Given the description of an element on the screen output the (x, y) to click on. 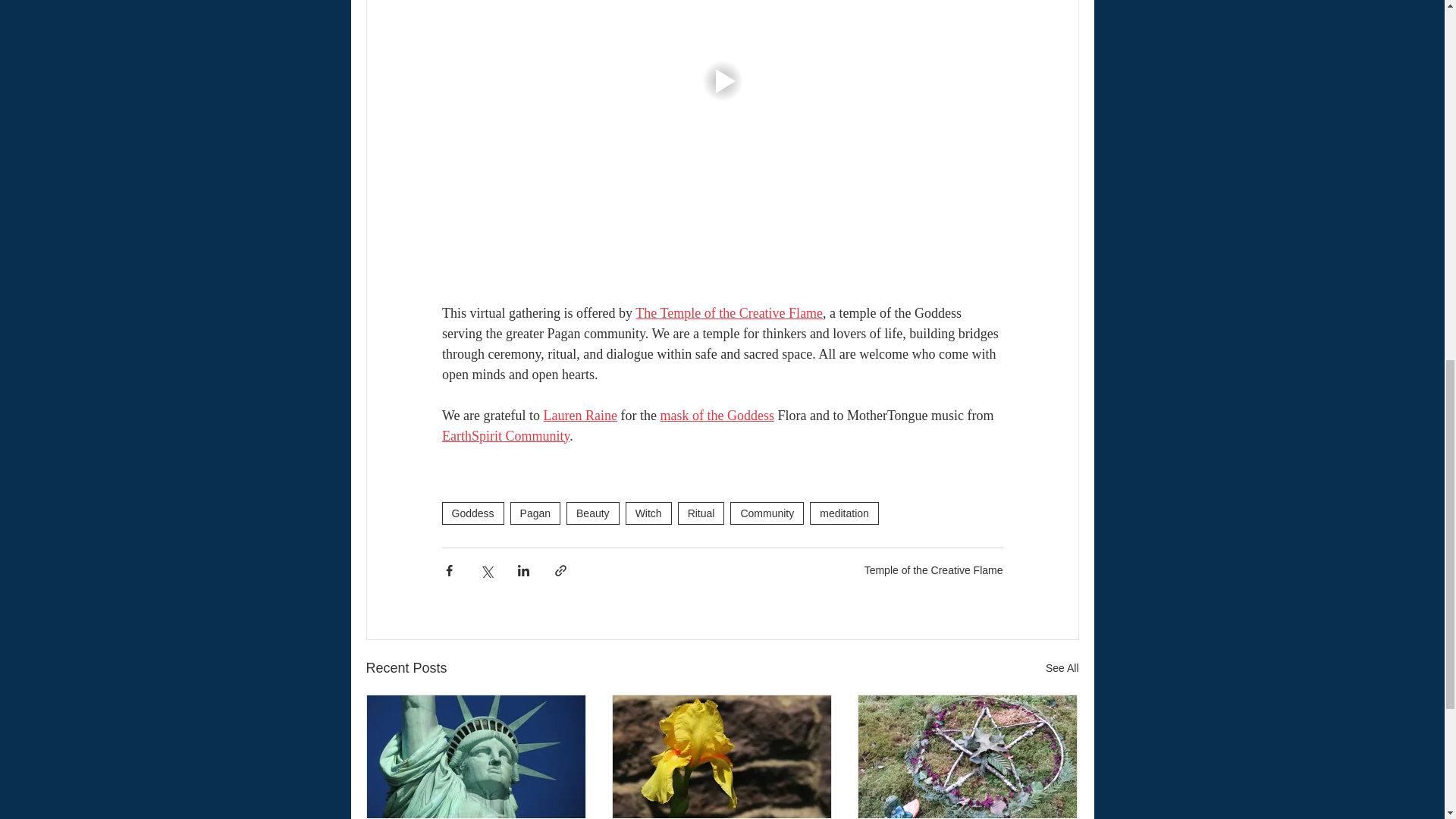
Temple of the Creative Flame (933, 570)
meditation (844, 513)
Witch (648, 513)
mask of the Goddess (716, 415)
Beauty (593, 513)
Community (766, 513)
Lauren Raine (579, 415)
Ritual (701, 513)
The Temple of the Creative Flame (728, 313)
See All (1061, 668)
EarthSpirit Community (505, 435)
Goddess (472, 513)
Pagan (535, 513)
